Given the description of an element on the screen output the (x, y) to click on. 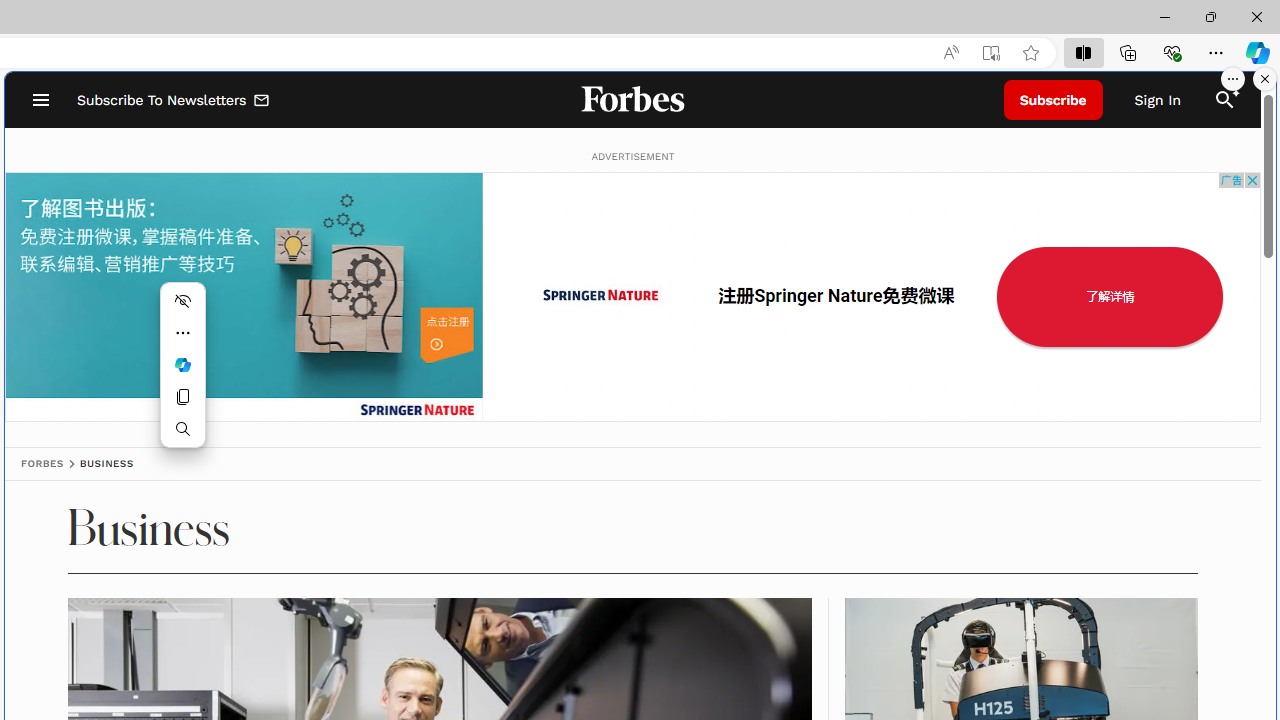
More actions (182, 332)
Open Navigation Menu (40, 99)
Ask Copilot (182, 364)
Subscribe (1053, 99)
Class: search_svg__fs-icon search_svg__fs-icon--search (1224, 99)
Class: sparkles_svg__fs-icon sparkles_svg__fs-icon--sparkles (1233, 91)
Hide menu (182, 300)
